Given the description of an element on the screen output the (x, y) to click on. 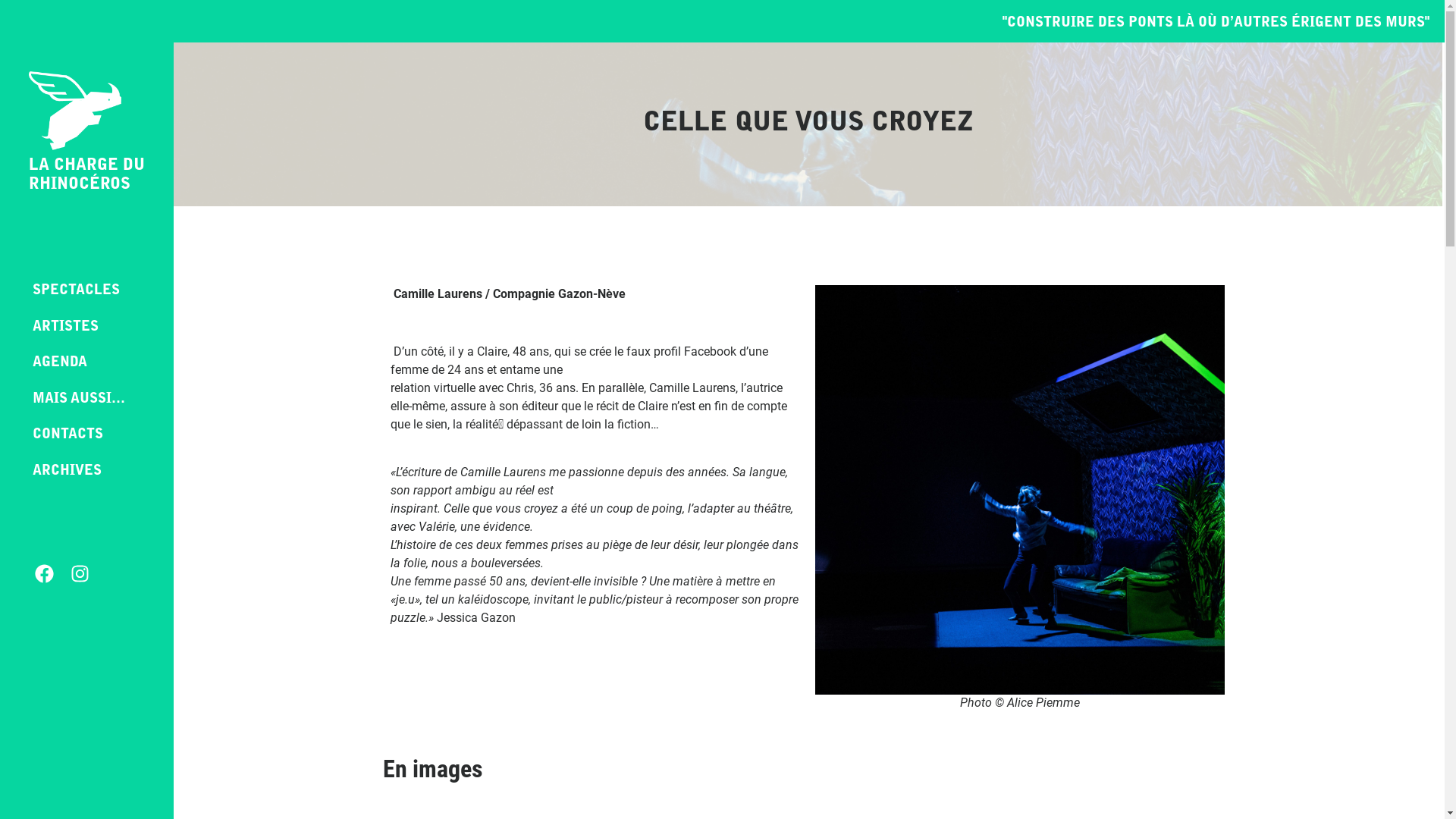
CONTACTS Element type: text (86, 435)
SPECTACLES Element type: text (86, 291)
ARTISTES Element type: text (86, 328)
AGENDA Element type: text (86, 363)
ARCHIVES Element type: text (86, 472)
